Given the description of an element on the screen output the (x, y) to click on. 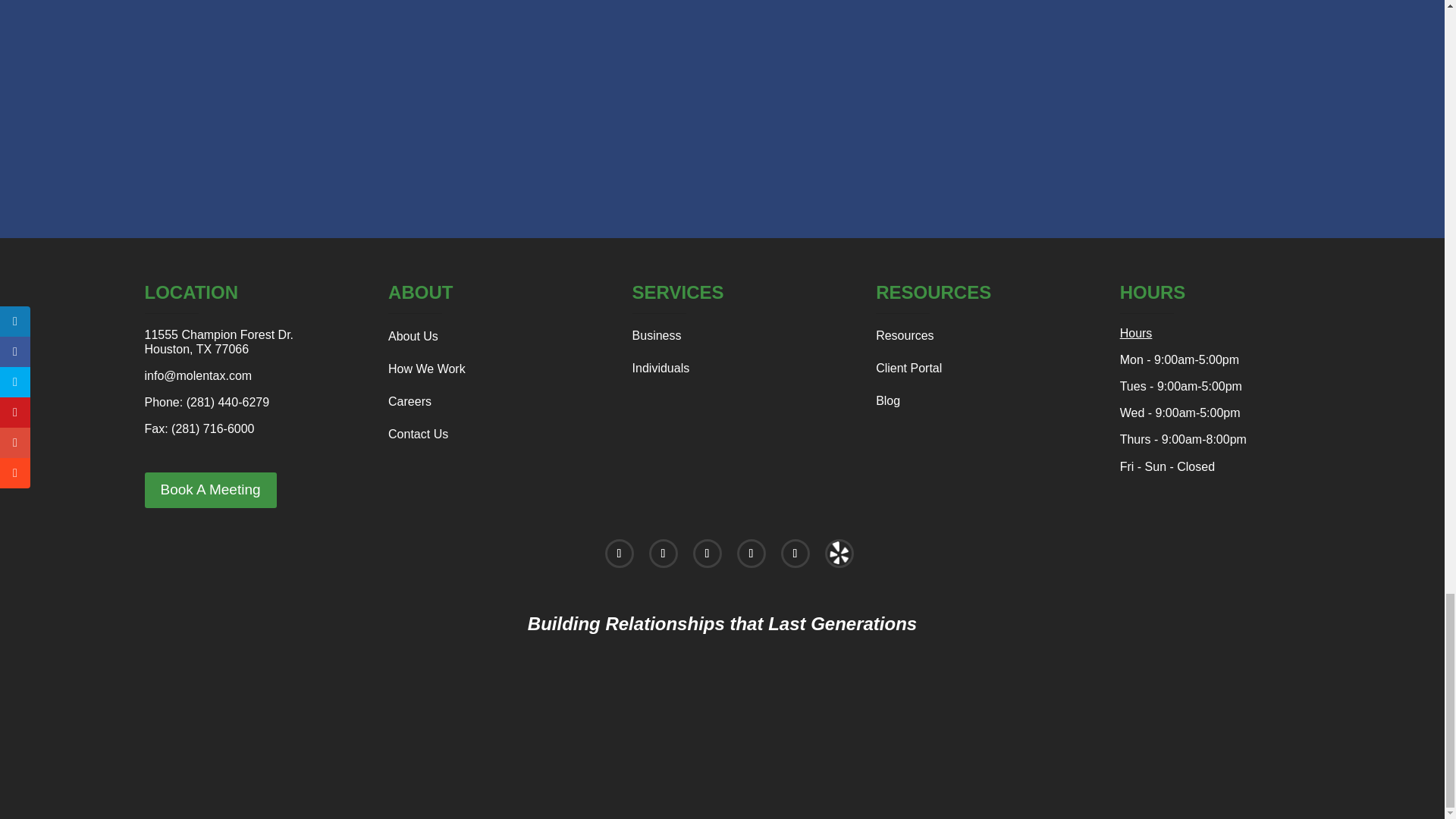
Follow on Instagram (707, 553)
Follow on LinkedIn (750, 553)
Follow on google-plus (794, 553)
Follow on X (663, 553)
Follow on tumblr (839, 553)
Follow on Facebook (619, 553)
Follow on  (832, 553)
